Given the description of an element on the screen output the (x, y) to click on. 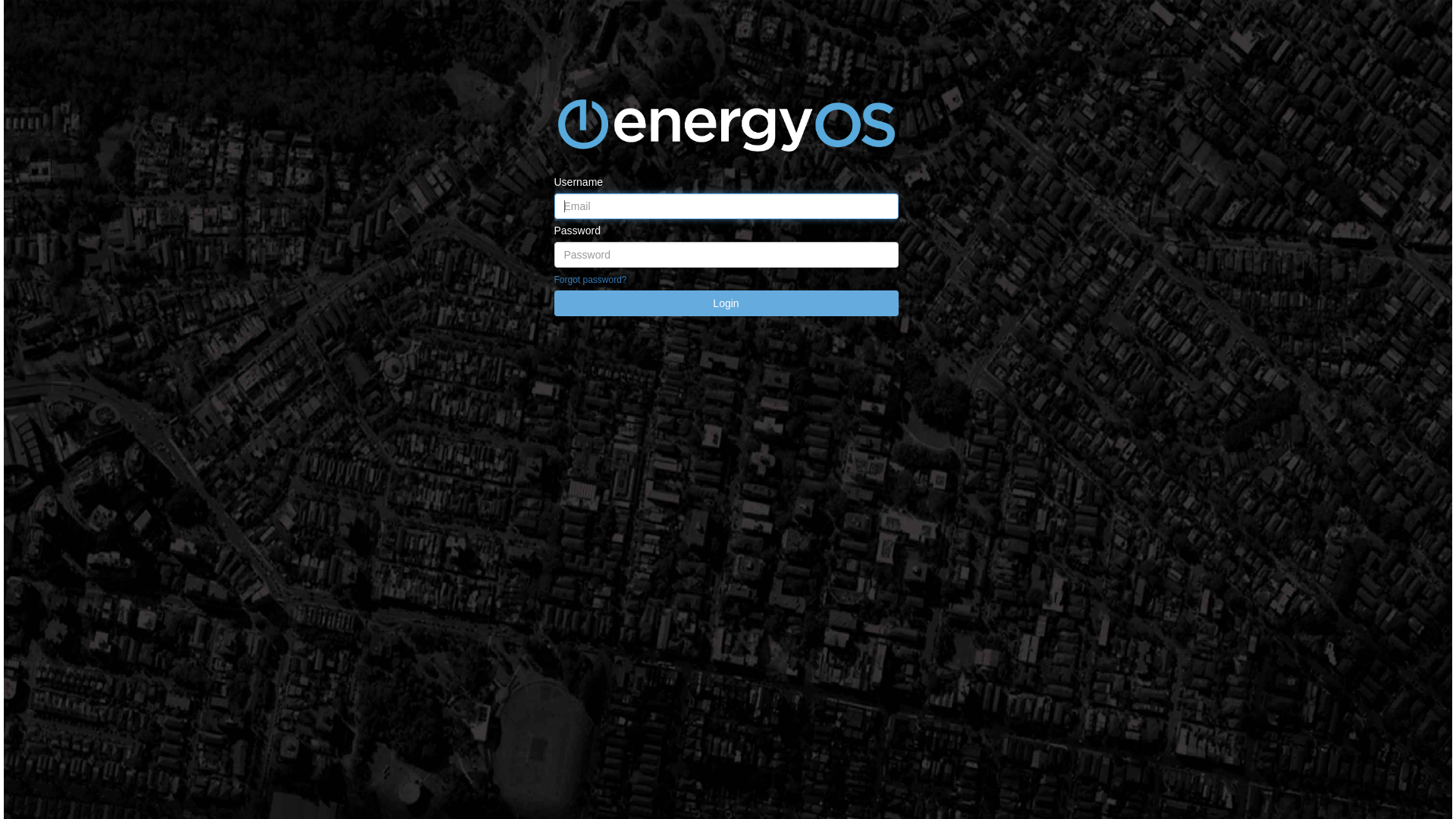
Login Element type: text (725, 303)
Forgot password? Element type: text (589, 279)
